Given the description of an element on the screen output the (x, y) to click on. 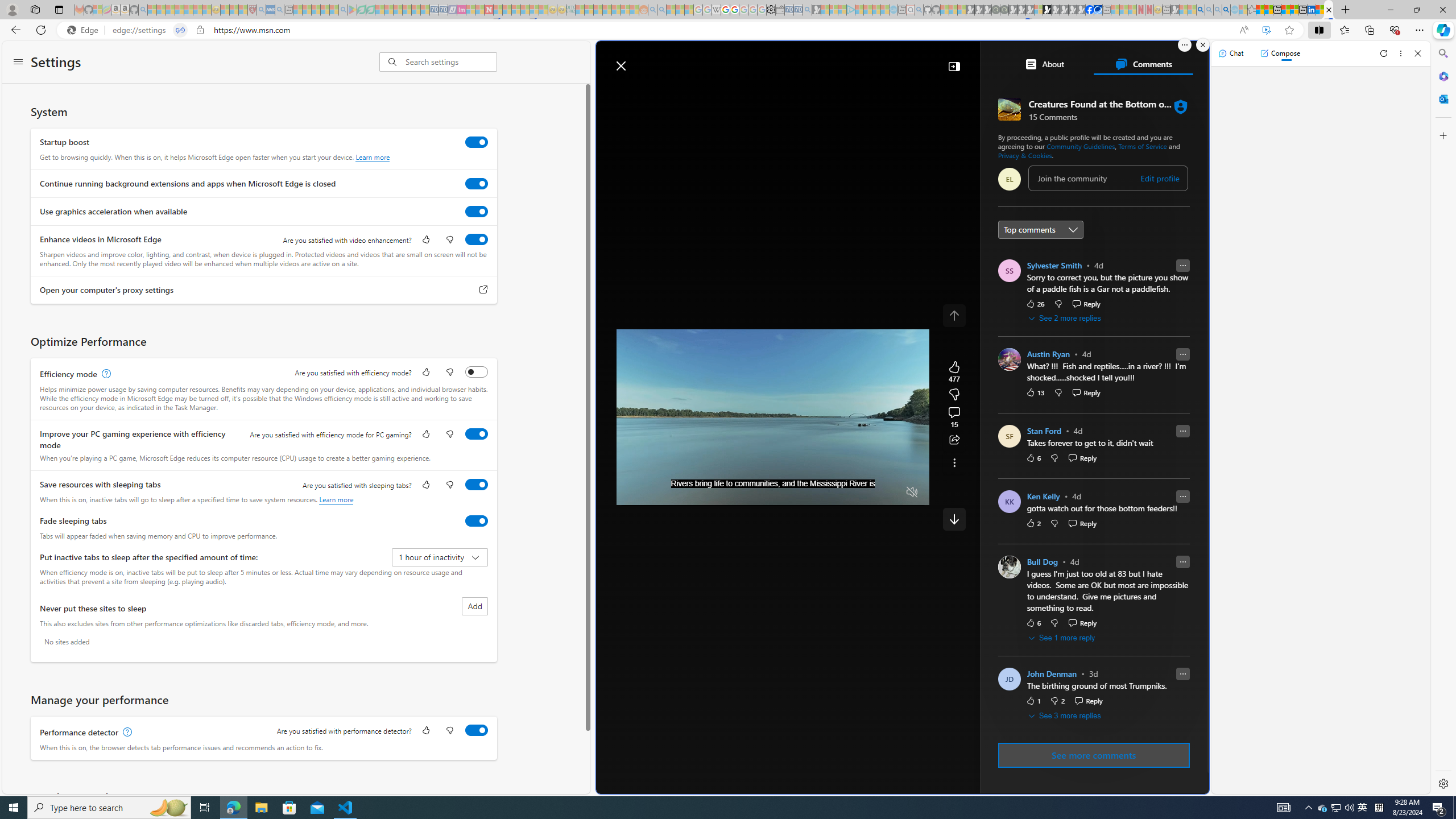
Compose (1279, 52)
6 Like (1032, 622)
Captions (867, 492)
Class: at-item detail-page (954, 462)
Sign in to your account - Sleeping (1038, 9)
